Given the description of an element on the screen output the (x, y) to click on. 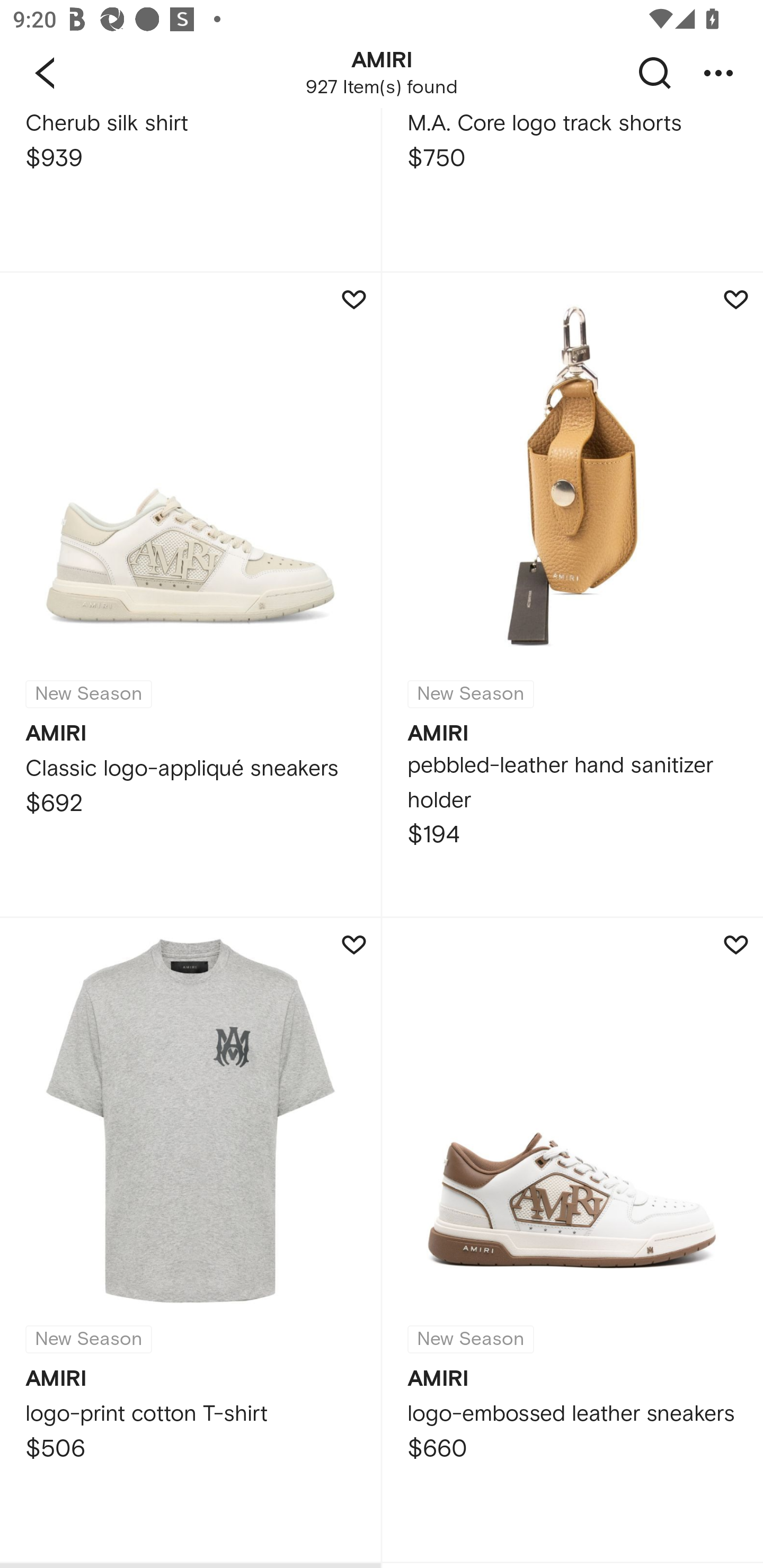
New Season AMIRI logo-print cotton T-shirt $506 (190, 1239)
